Given the description of an element on the screen output the (x, y) to click on. 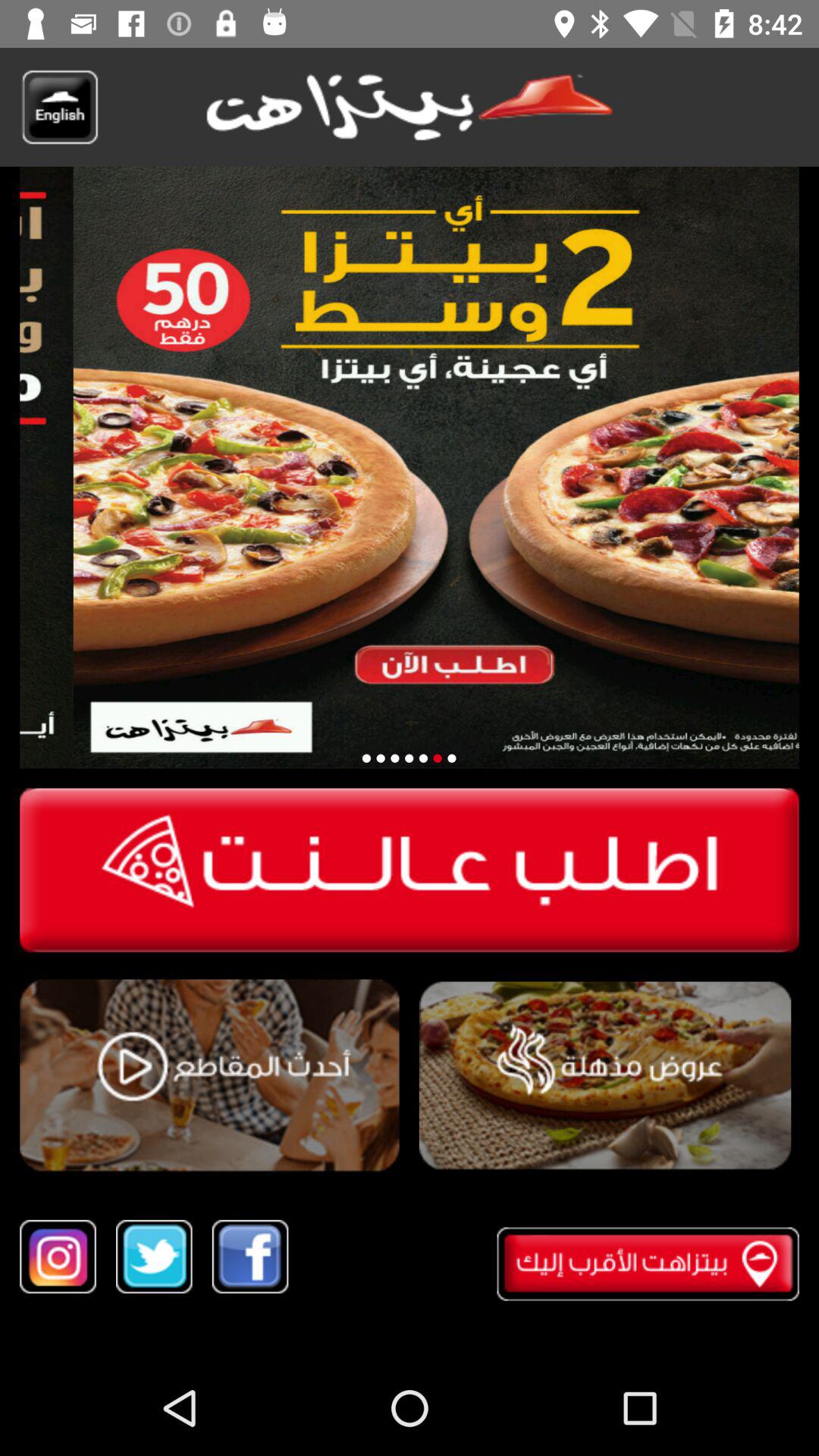
go to facebook (250, 1256)
